Given the description of an element on the screen output the (x, y) to click on. 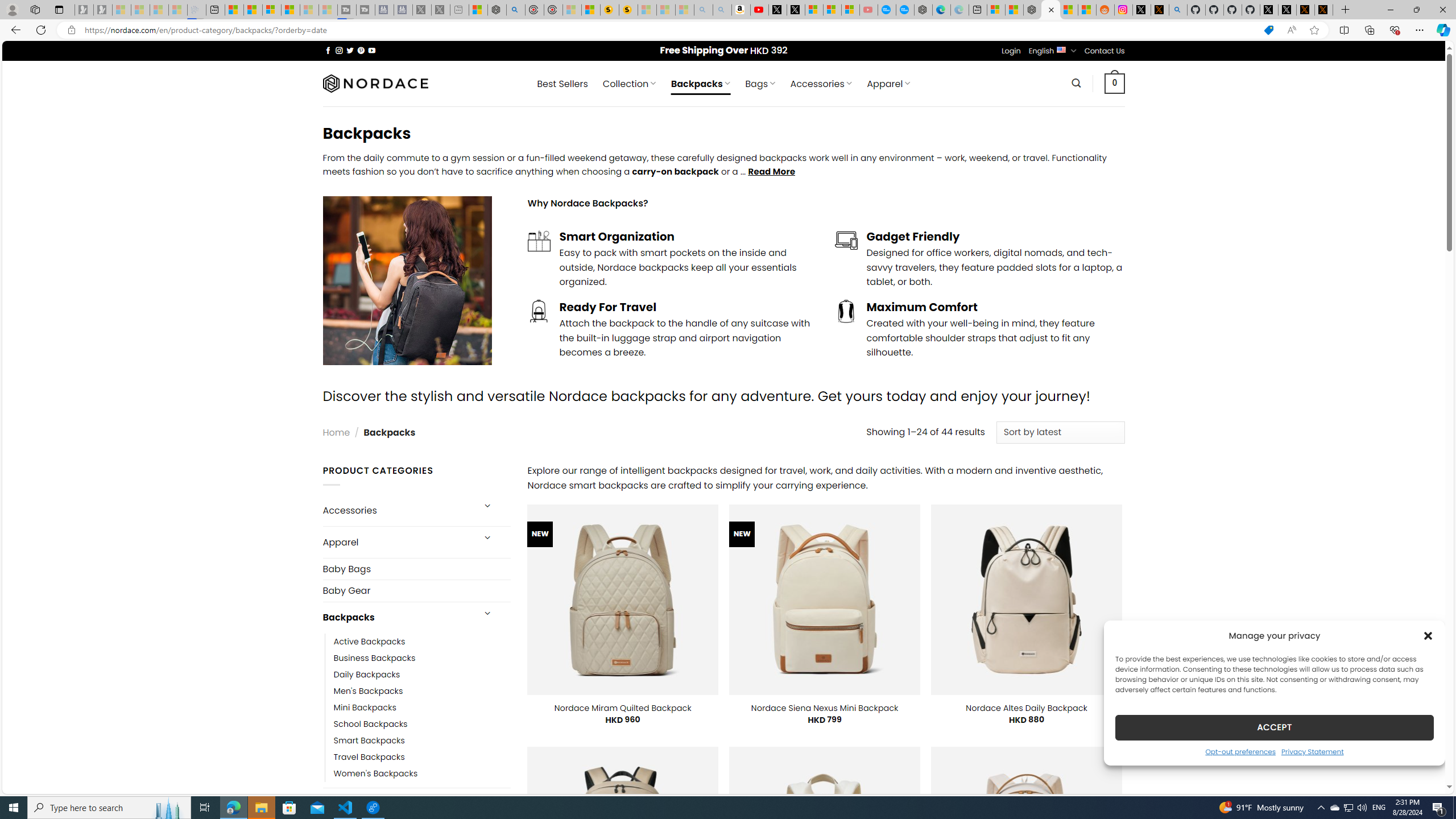
Amazon Echo Dot PNG - Search Images - Sleeping (721, 9)
Nordace - Best Sellers (1032, 9)
Women's Backpacks (422, 773)
Nordace Altes Daily Backpack (1026, 708)
This site has coupons! Shopping in Microsoft Edge (1268, 29)
Smart Backpacks (422, 740)
Smart Backpacks (368, 740)
